Given the description of an element on the screen output the (x, y) to click on. 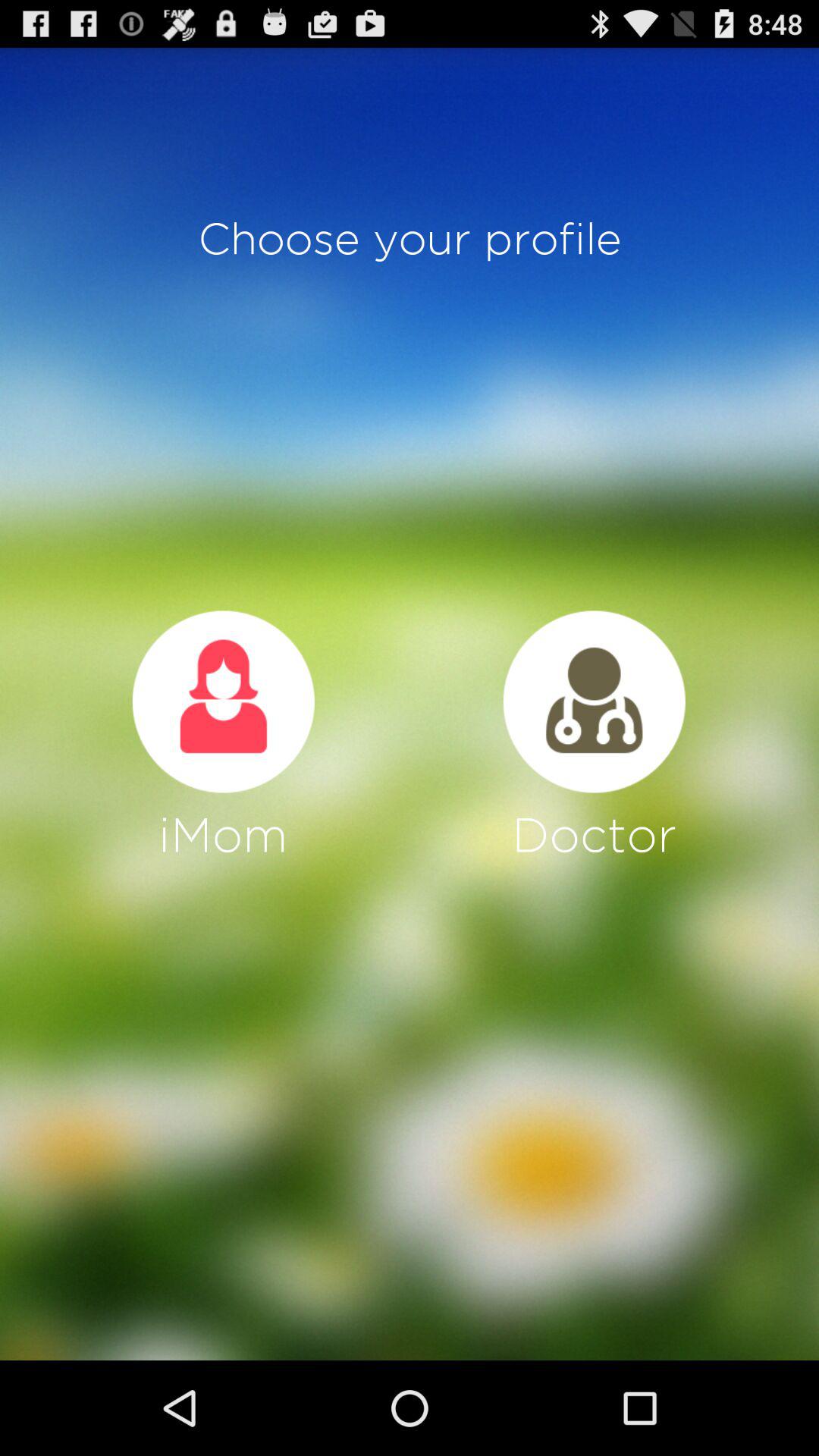
select doctor (594, 701)
